Given the description of an element on the screen output the (x, y) to click on. 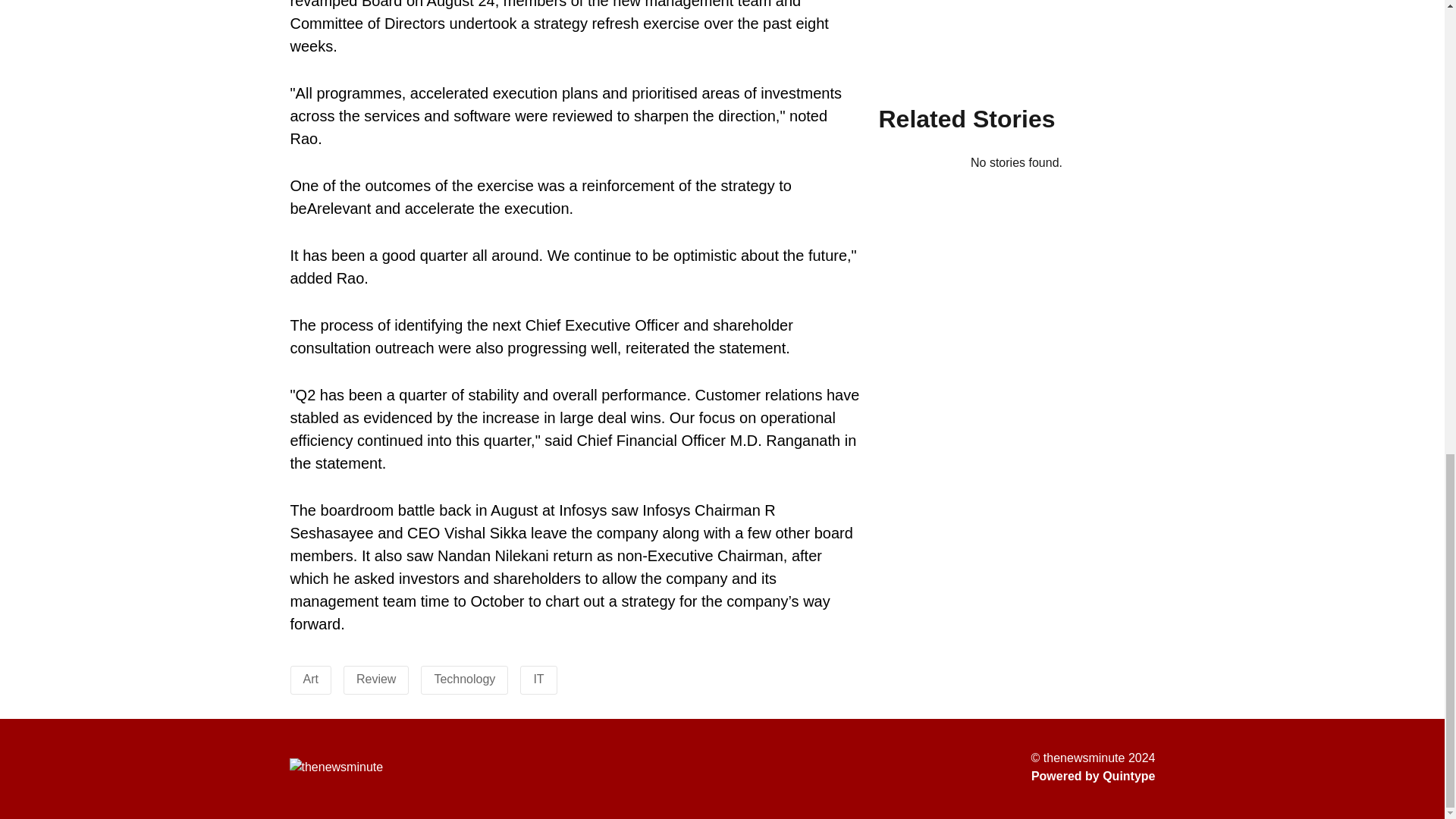
Powered by Quintype (1093, 776)
Art (310, 678)
Technology (464, 678)
Review (376, 678)
